Given the description of an element on the screen output the (x, y) to click on. 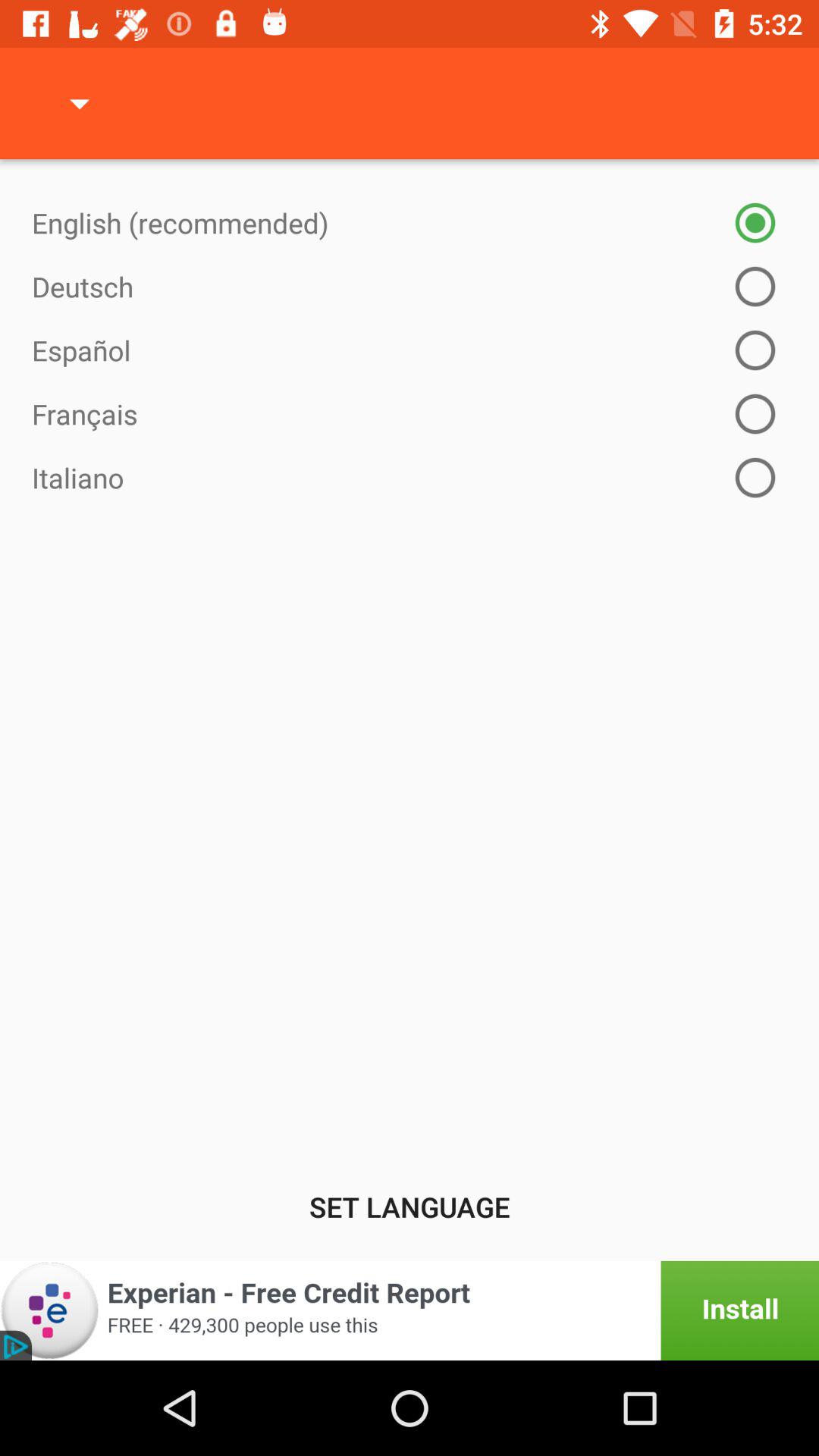
open experian app (409, 1310)
